Given the description of an element on the screen output the (x, y) to click on. 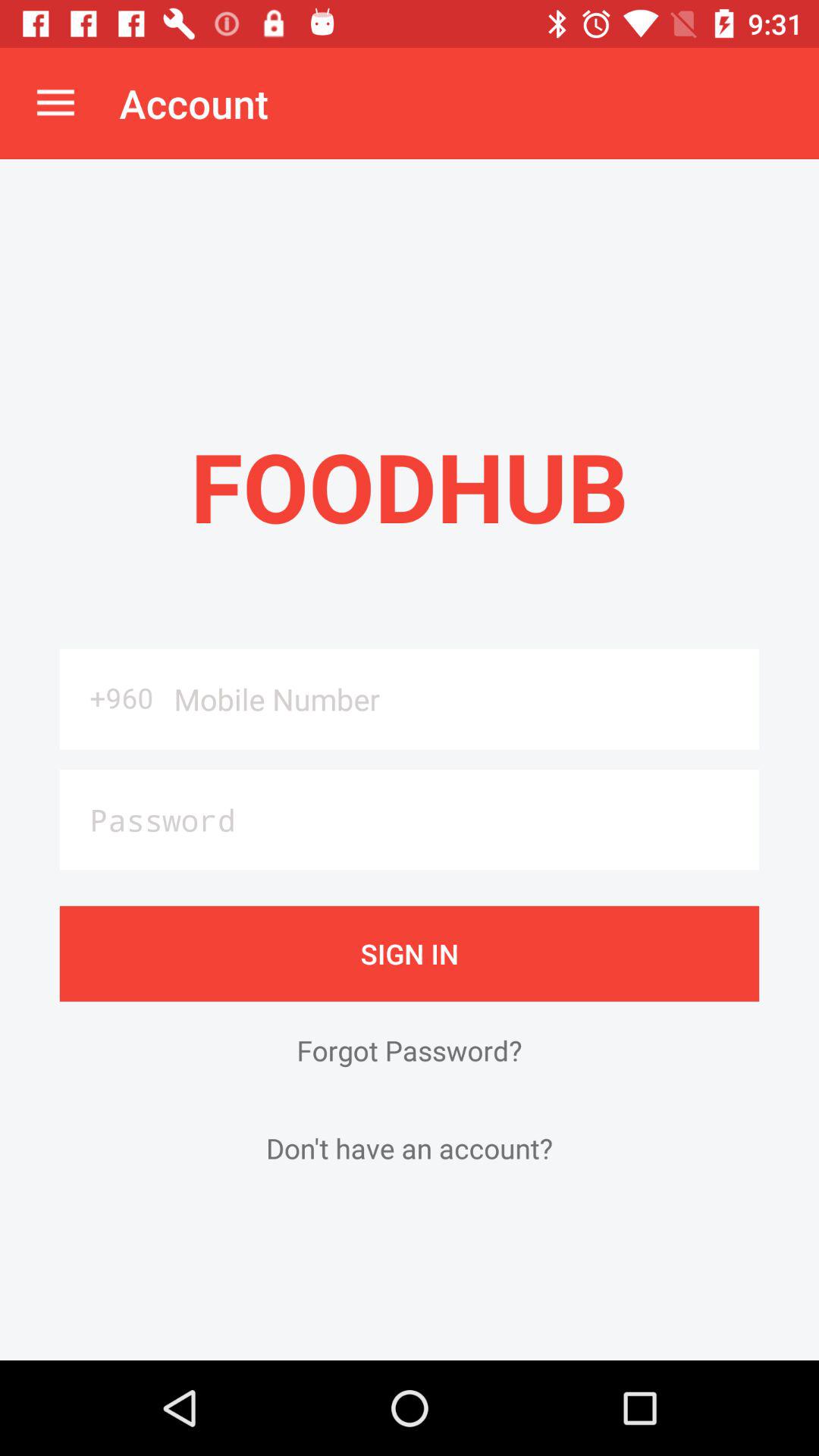
jump until the sign in icon (409, 953)
